Given the description of an element on the screen output the (x, y) to click on. 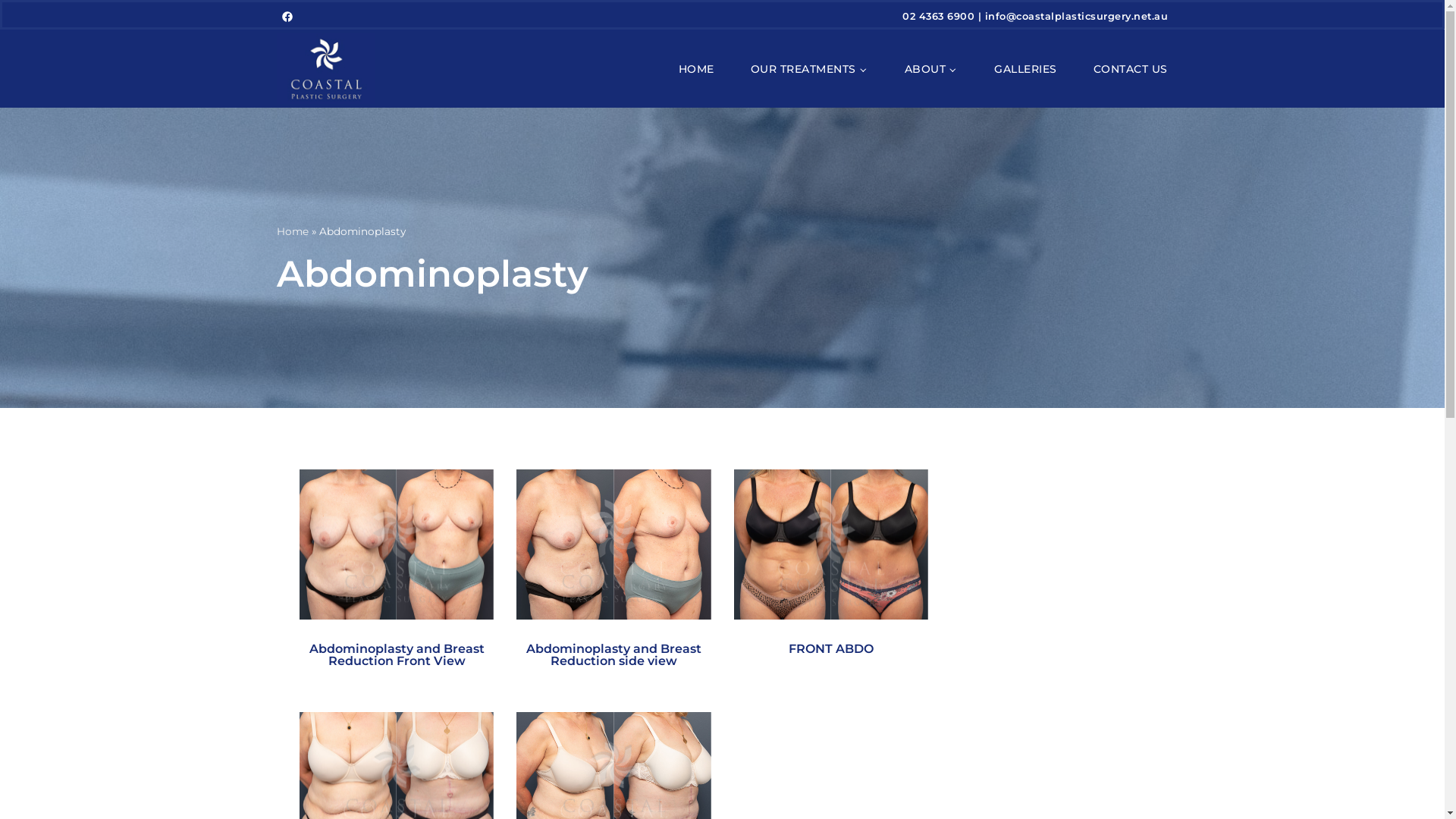
HOME Element type: text (696, 69)
ABOUT Element type: text (931, 69)
GALLERIES Element type: text (1025, 69)
Home Element type: text (292, 231)
CONTACT US Element type: text (1130, 69)
OUR TREATMENTS Element type: text (809, 69)
